Given the description of an element on the screen output the (x, y) to click on. 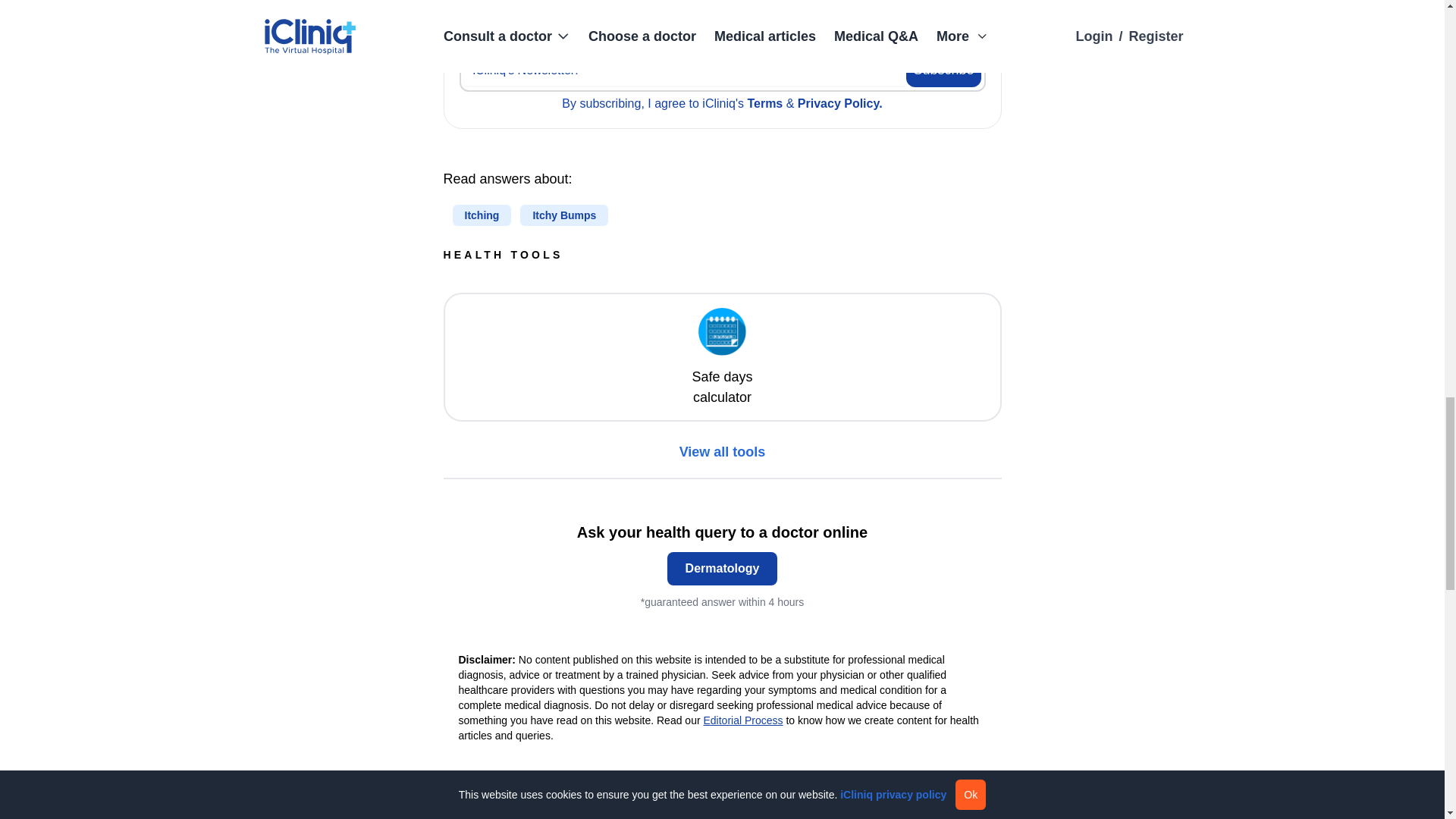
safe day (722, 336)
